Given the description of an element on the screen output the (x, y) to click on. 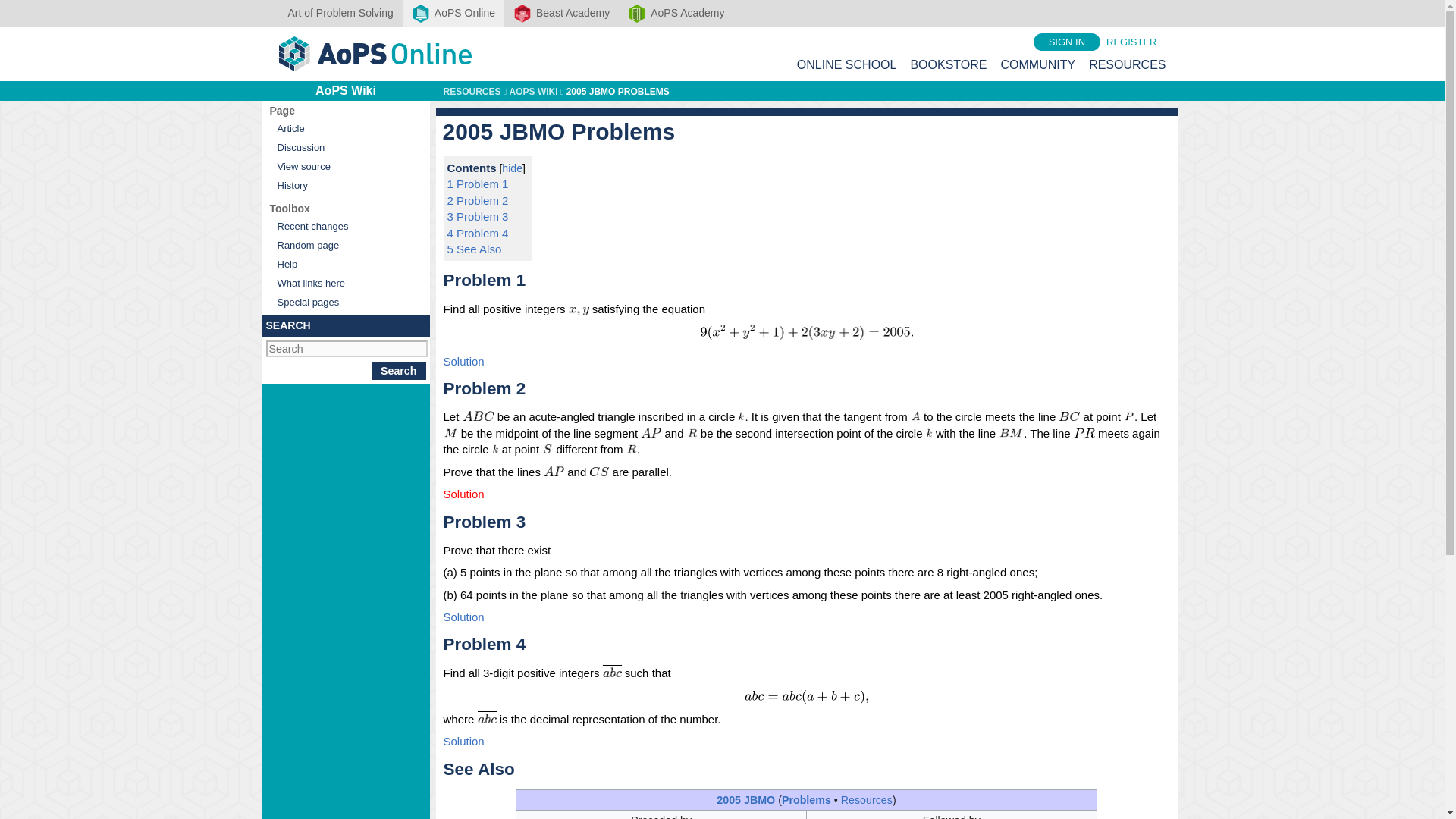
ONLINE SCHOOL (846, 64)
Search the pages for this text (398, 370)
2005 JBMO (745, 799)
Search (398, 370)
Beast Academy (560, 13)
RESOURCES (1127, 64)
BOOKSTORE (948, 64)
Search (398, 370)
AoPS Academy (675, 13)
Art of Problem Solving (341, 13)
